Given the description of an element on the screen output the (x, y) to click on. 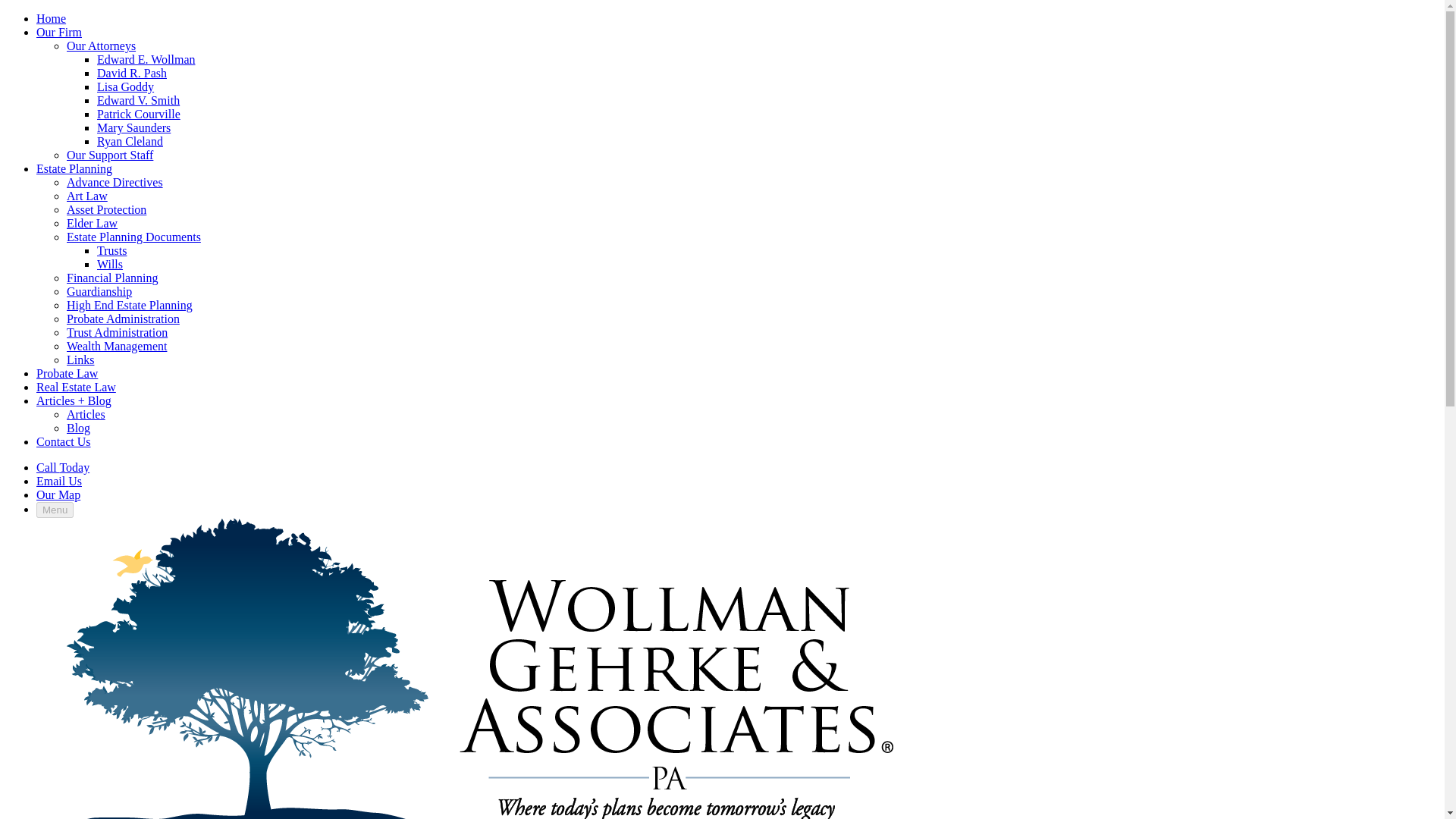
Art Law (86, 195)
Probate Law (66, 373)
Patrick Courville (138, 113)
Trusts (111, 250)
Estate Planning Documents (133, 236)
Edward E. Wollman (146, 59)
Trust Administration (116, 332)
Our Firm (58, 31)
Edward V. Smith (138, 100)
Links (80, 359)
Articles (85, 413)
David R. Pash (132, 72)
Financial Planning (111, 277)
Blog (78, 427)
Elder Law (91, 223)
